Given the description of an element on the screen output the (x, y) to click on. 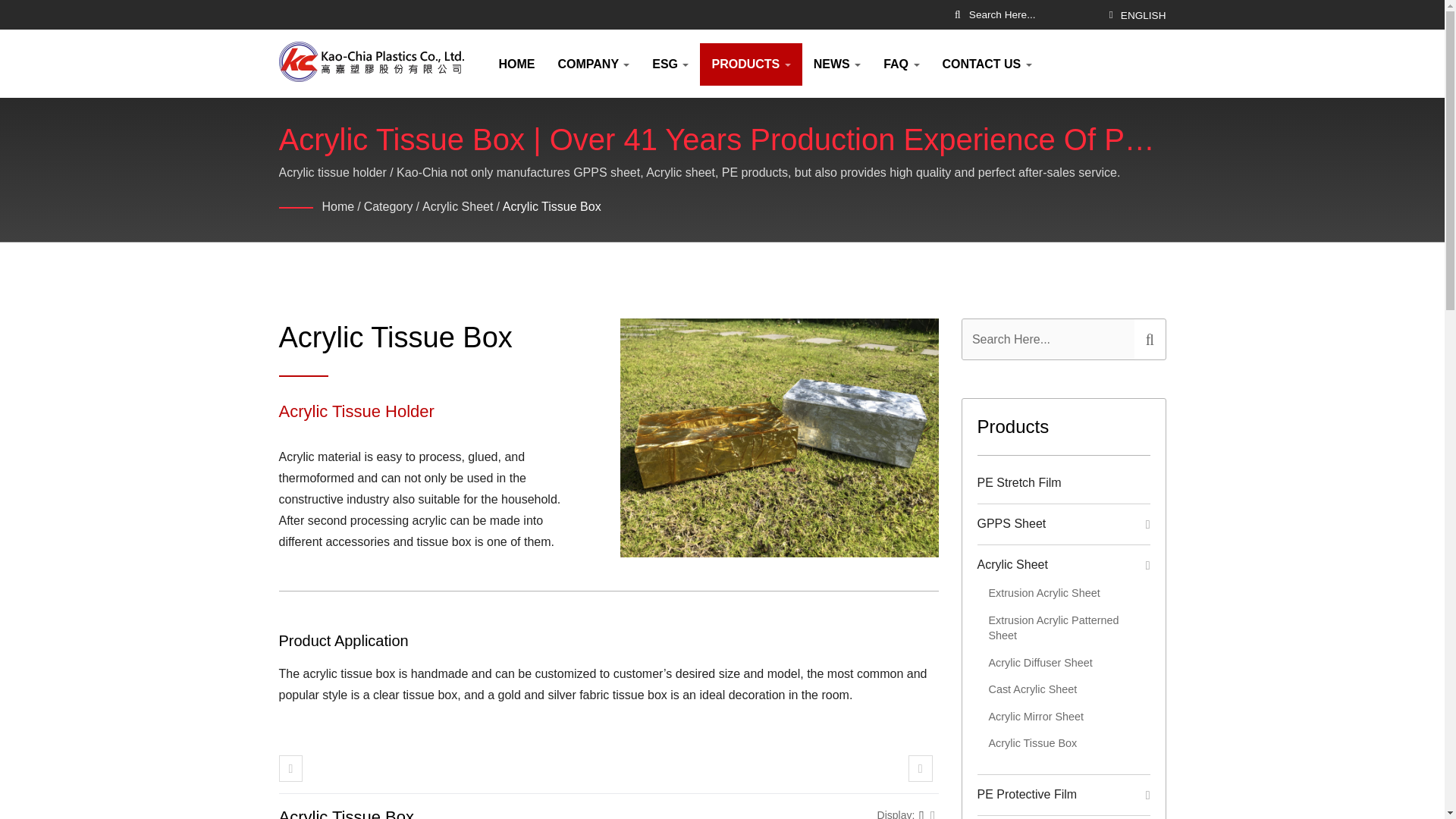
Search Here... (1033, 14)
Search Here... (1047, 339)
Acrylic Sheet (457, 207)
ESG (670, 64)
PRODUCTS (751, 64)
Acrylic Tissue Box (551, 207)
HOME (516, 64)
Category (388, 207)
COMPANY (593, 64)
ENGLISH (1143, 15)
